Given the description of an element on the screen output the (x, y) to click on. 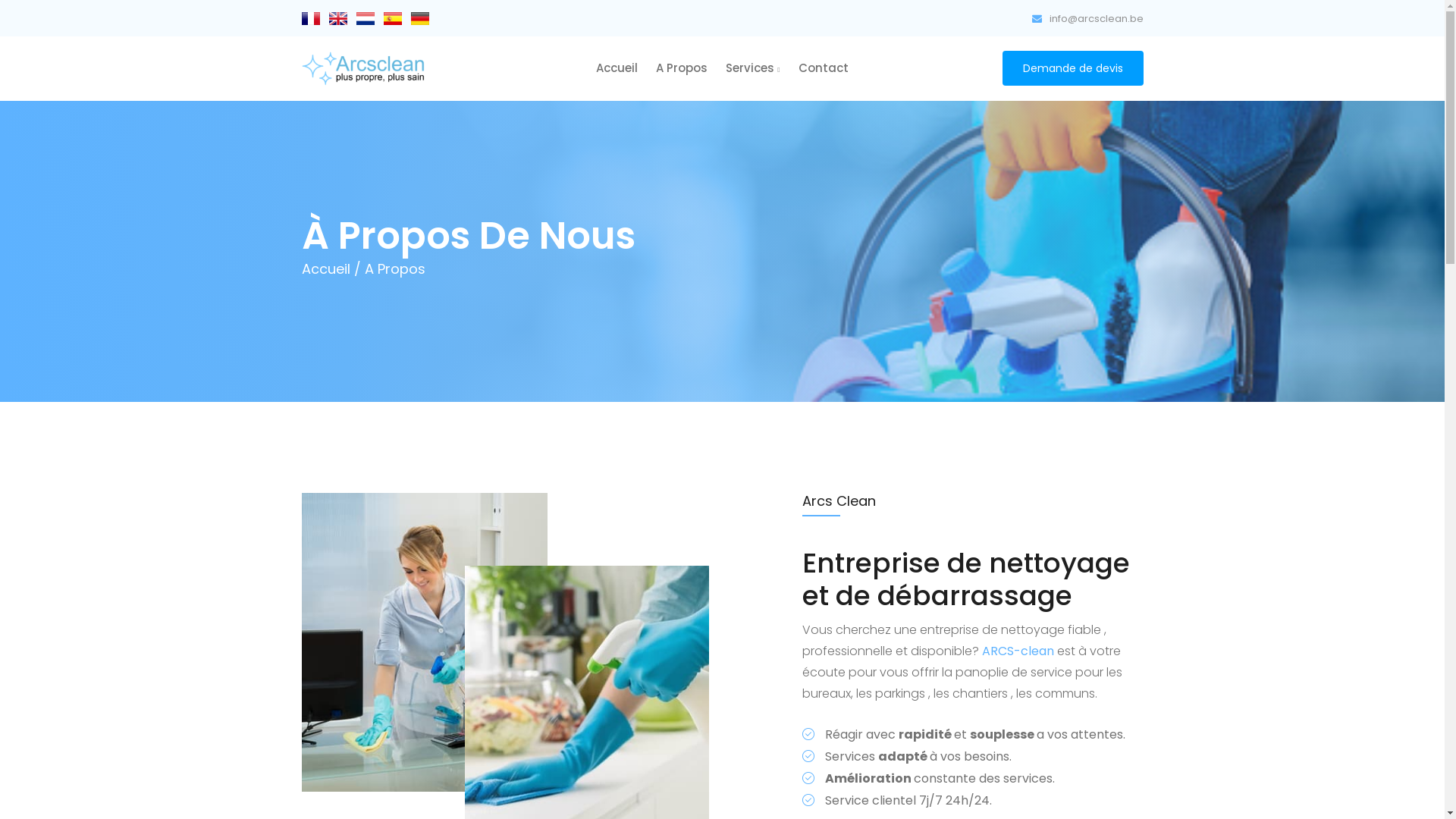
Demande de devis Element type: text (1072, 67)
A Propos Element type: text (681, 68)
Accueil Element type: text (616, 68)
Contact Element type: text (823, 68)
Services Element type: text (752, 68)
Accueil / Element type: text (330, 268)
info@arcsclean.be Element type: text (1086, 18)
